Given the description of an element on the screen output the (x, y) to click on. 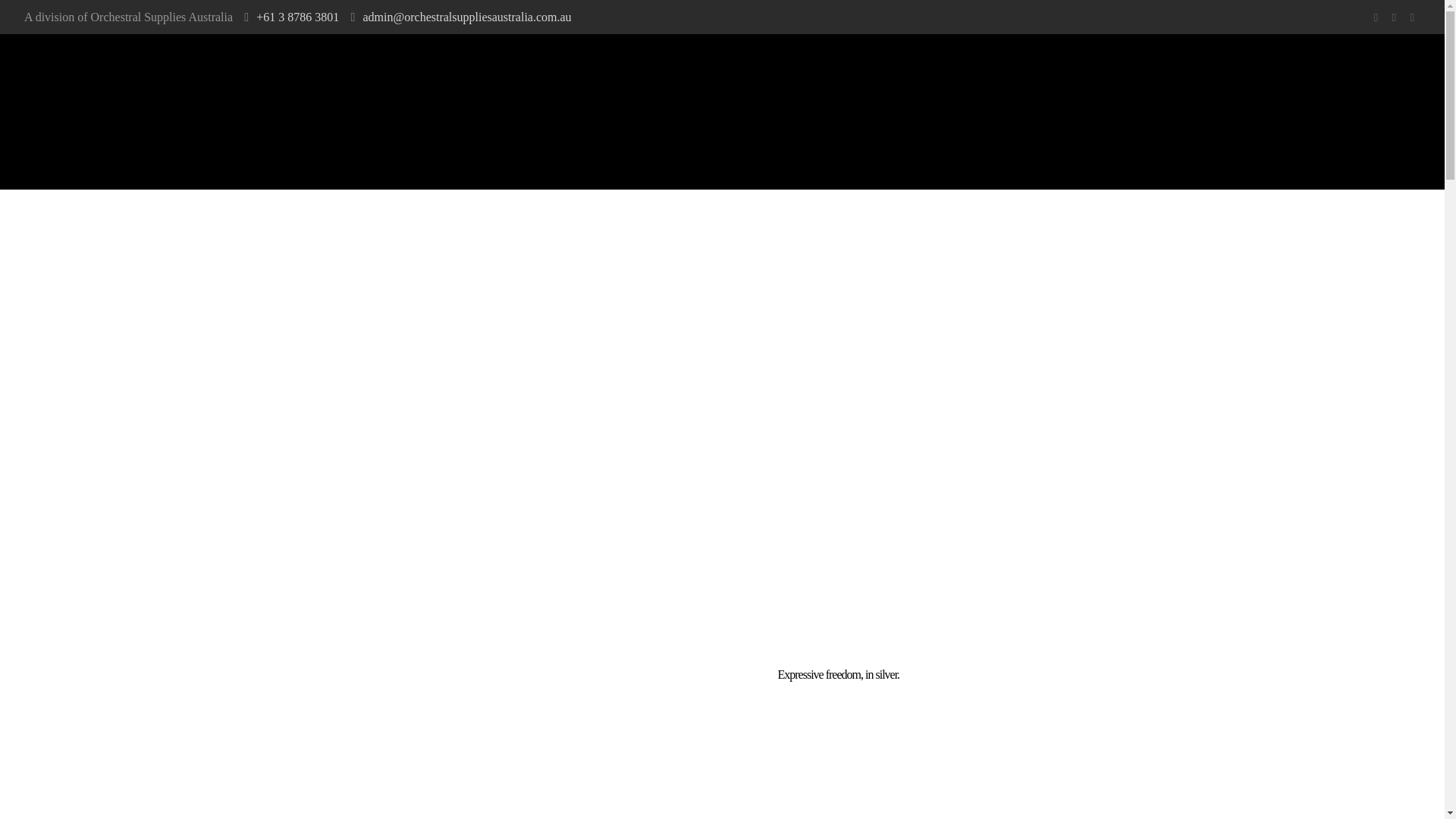
Email (1413, 17)
Instagram (1395, 17)
Facebook (1377, 17)
